Given the description of an element on the screen output the (x, y) to click on. 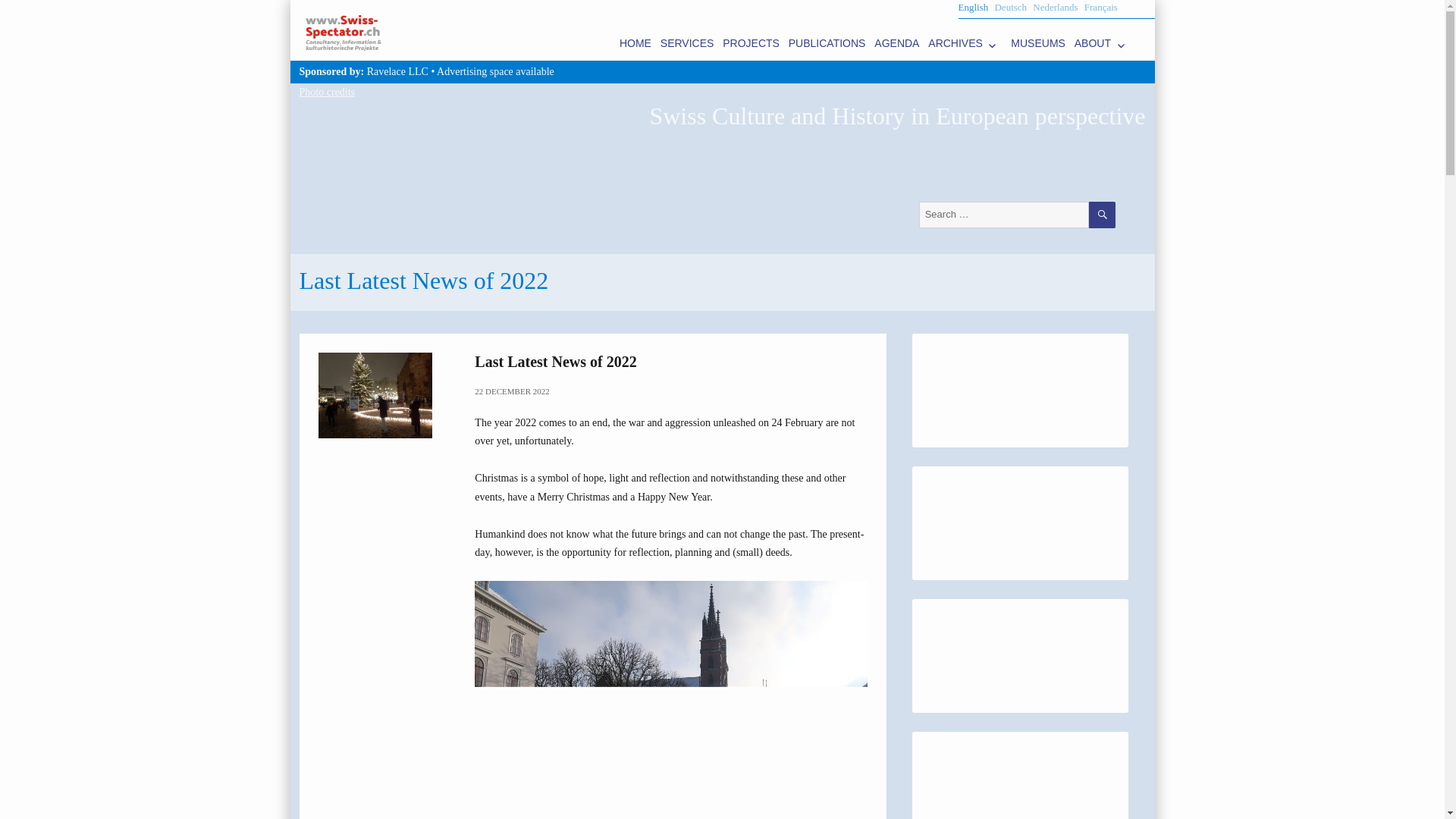
Photo credits (326, 91)
Advertising space available (495, 71)
THE ROMAN EMPIRE AND ROMANIZATION (1005, 373)
THE MIDDLE AGES, ARTS AND STATE BUILDING (1016, 506)
HOME (635, 43)
AGENDA (896, 43)
Nederlands (1054, 7)
ABOUT (1102, 43)
English (973, 7)
Ravelace LLC (397, 71)
